Given the description of an element on the screen output the (x, y) to click on. 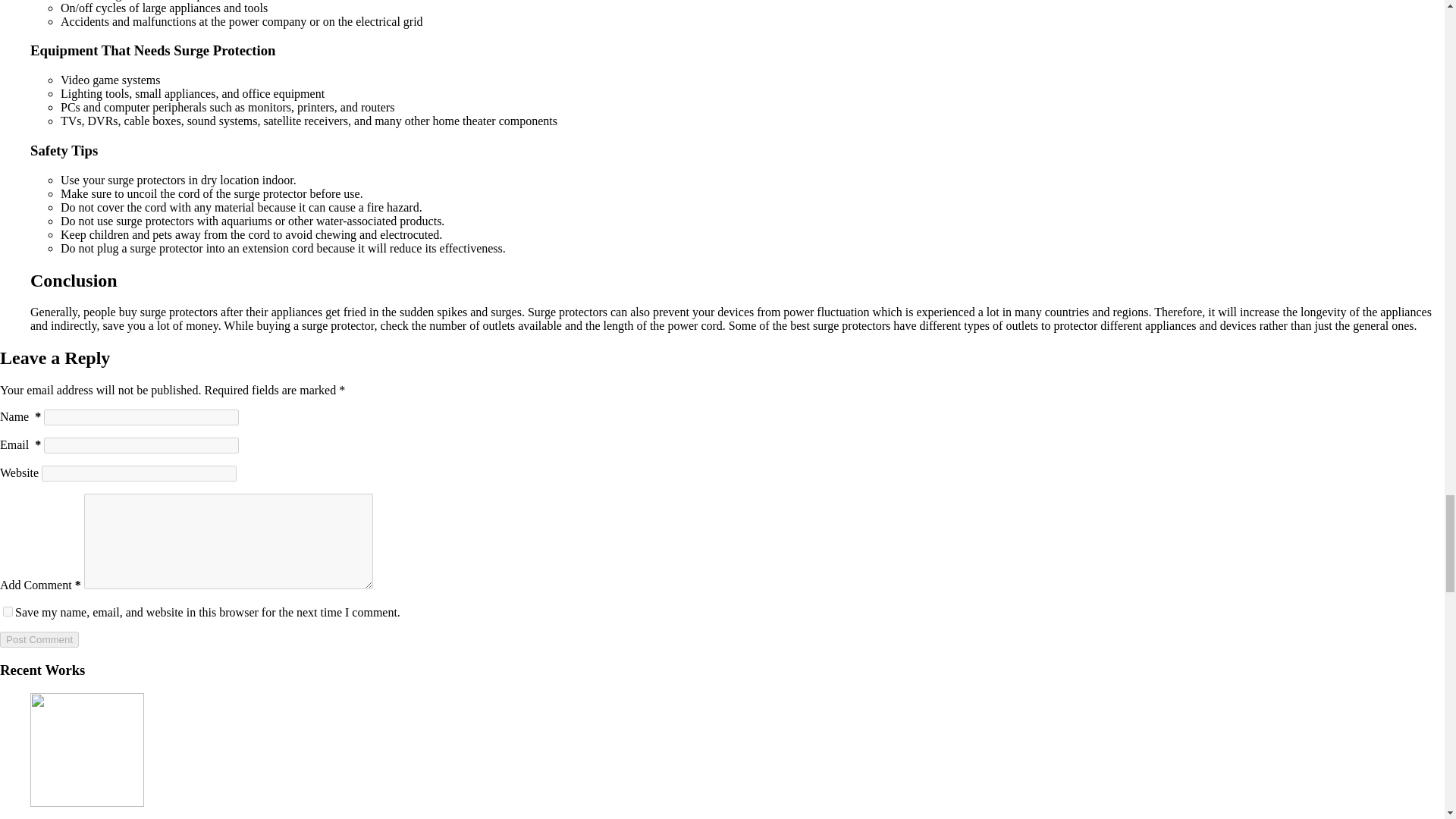
yes (7, 611)
Post Comment (39, 639)
